Given the description of an element on the screen output the (x, y) to click on. 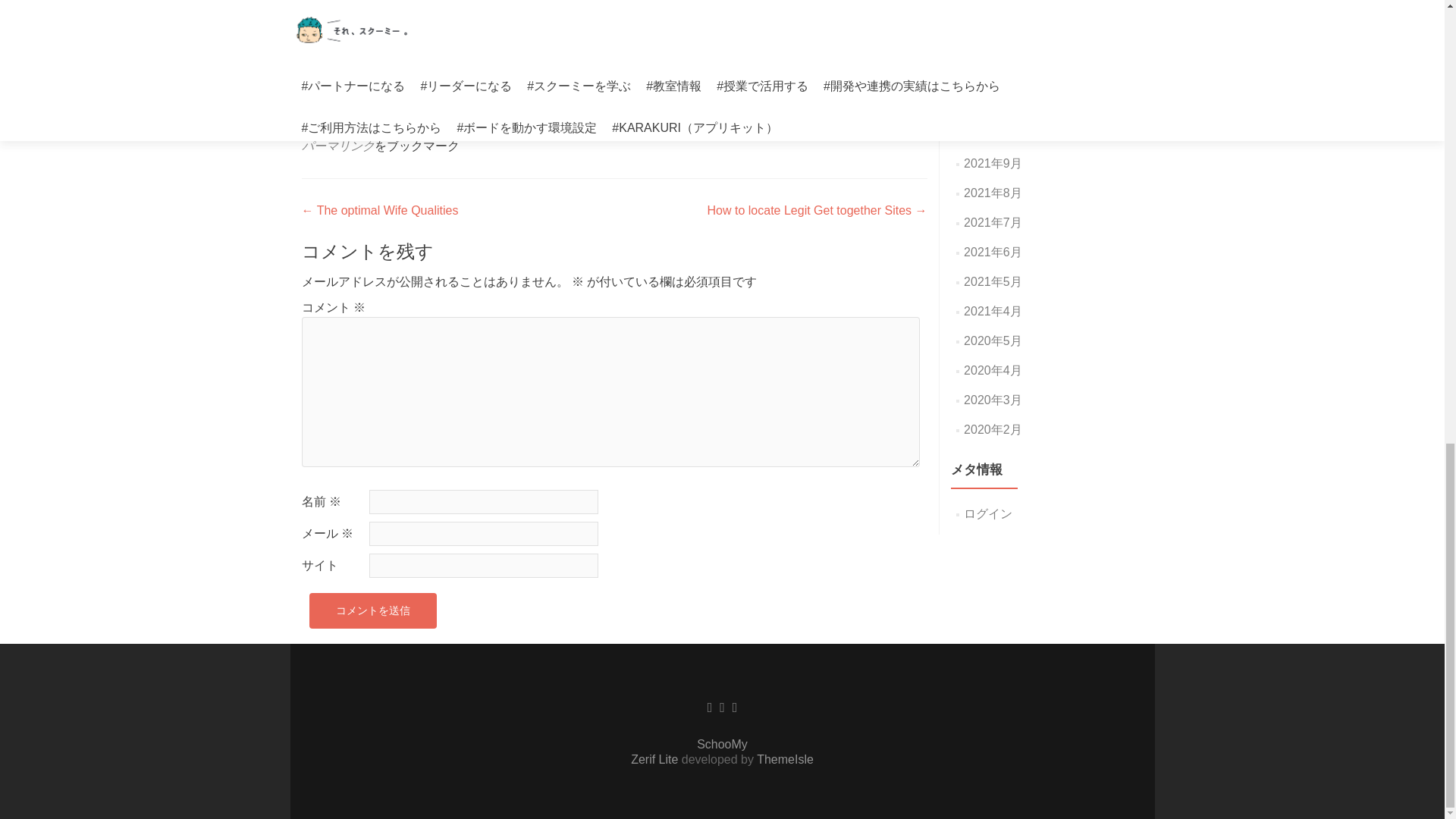
japanese american women (467, 110)
